Given the description of an element on the screen output the (x, y) to click on. 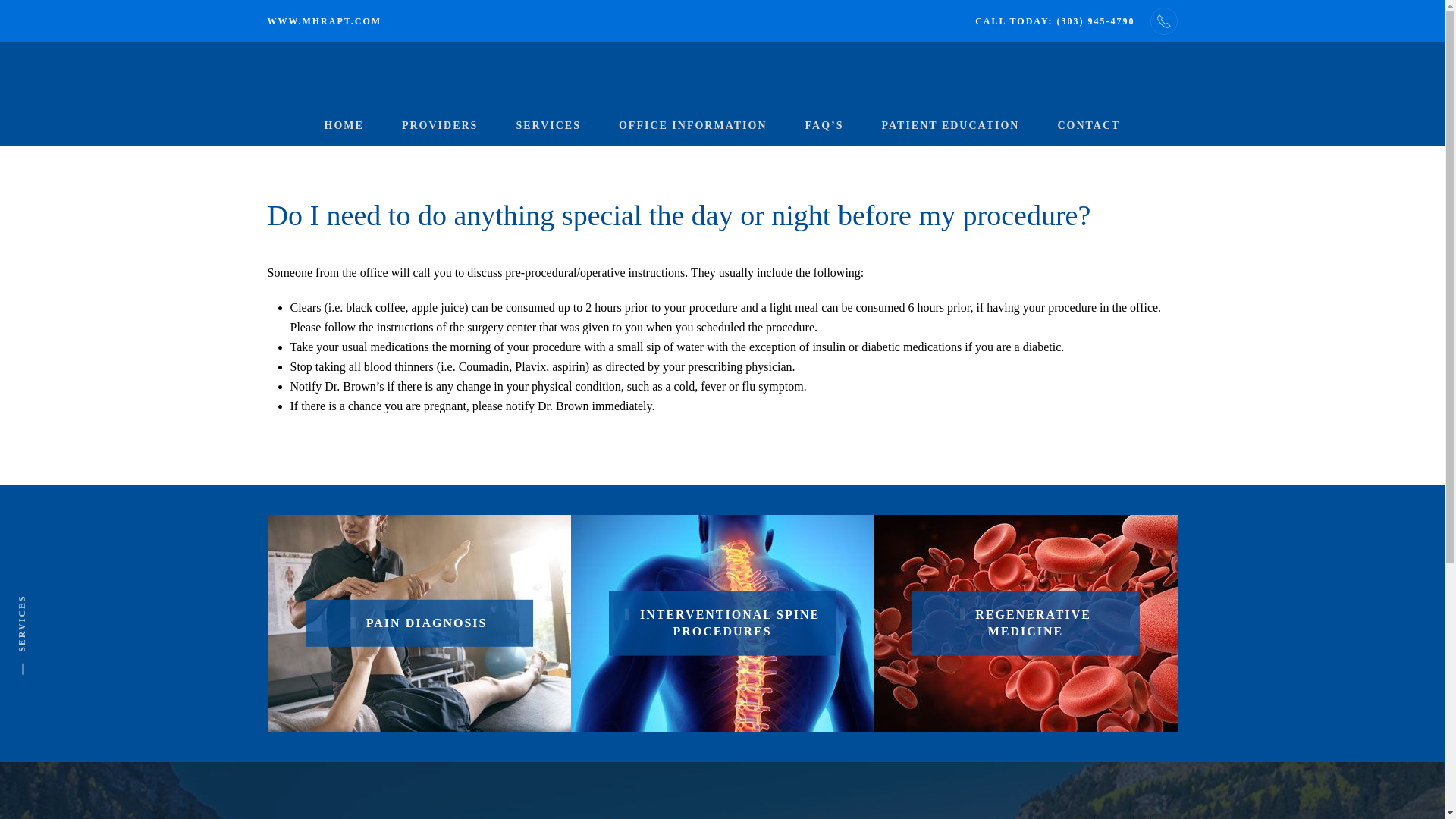
PROVIDERS (439, 126)
HOME (343, 126)
WWW.MHRAPT.COM (323, 20)
Visit Mile High Regenertive and Pain Therapy - Lakewood, CO (323, 20)
SERVICES (547, 126)
Call today. (1054, 20)
